Given the description of an element on the screen output the (x, y) to click on. 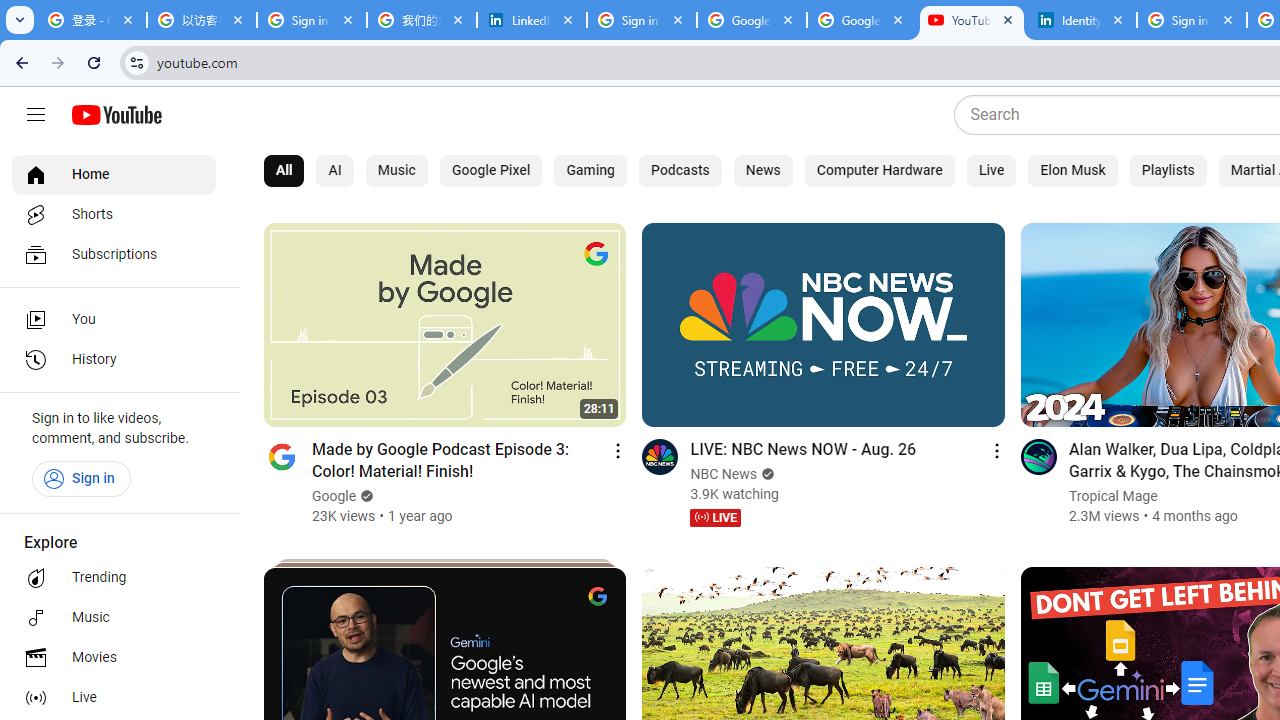
Movies (113, 657)
History (113, 359)
Sign in - Google Accounts (642, 20)
Tropical Mage (1112, 496)
Sign in - Google Accounts (1191, 20)
